Given the description of an element on the screen output the (x, y) to click on. 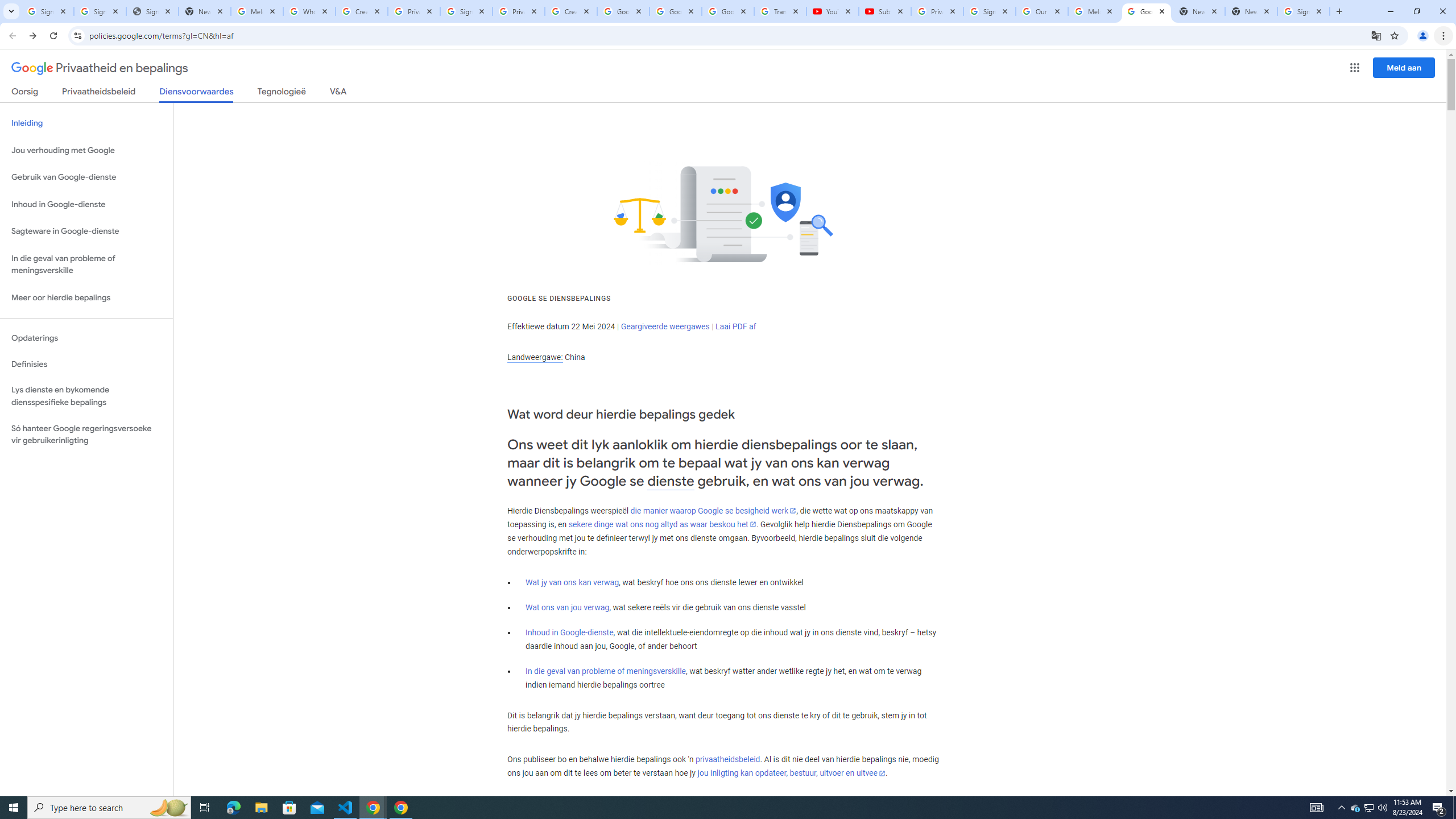
Inleiding (86, 122)
Translate this page (1376, 35)
Google Account (727, 11)
Sign in - Google Accounts (466, 11)
Wat jy van ons kan verwag (571, 582)
Wat ons van jou verwag (567, 606)
Sign in - Google Accounts (47, 11)
Sagteware in Google-dienste (86, 230)
YouTube (831, 11)
